Given the description of an element on the screen output the (x, y) to click on. 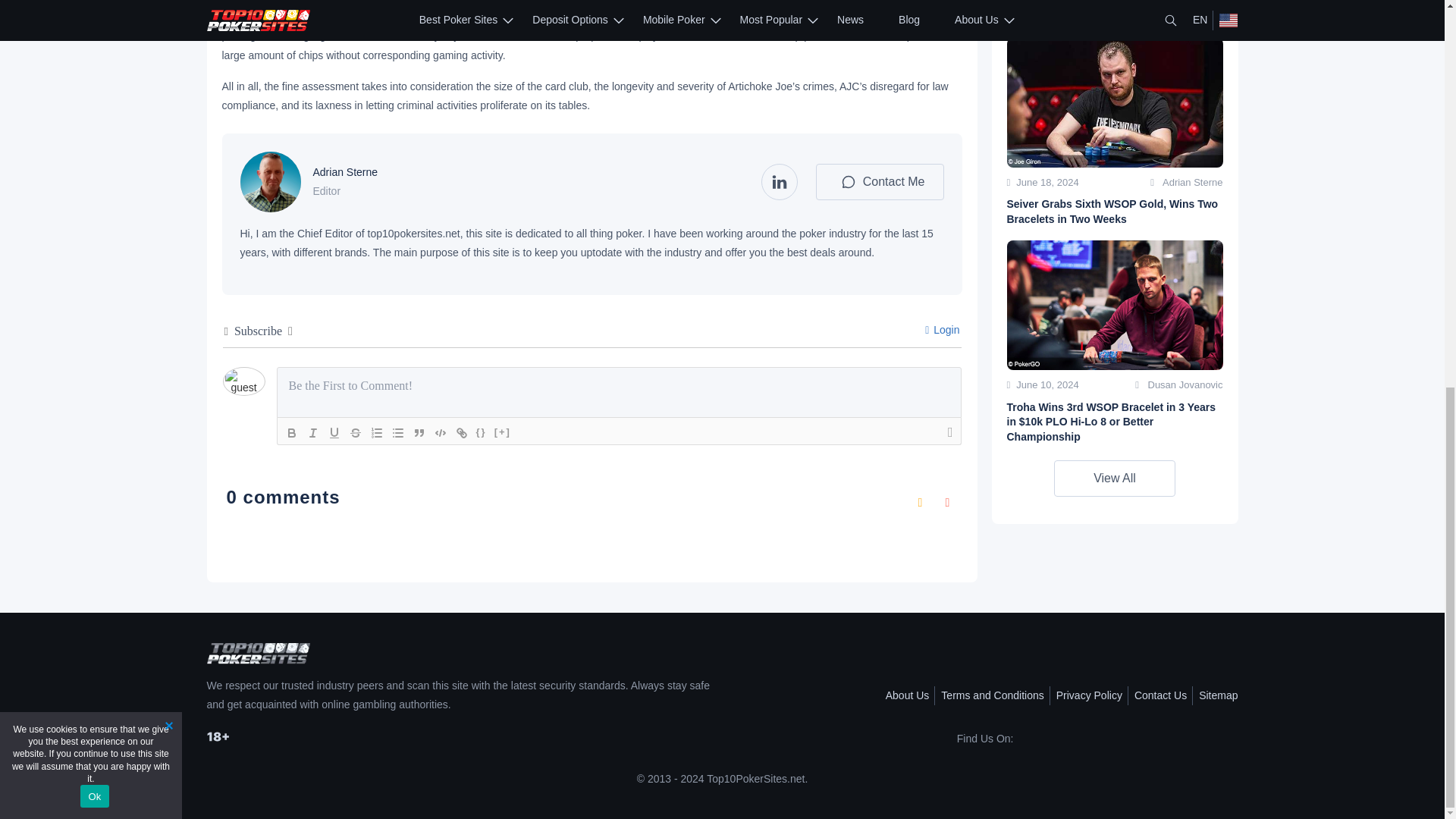
Code Block (439, 433)
Strike (354, 433)
Ordered List (376, 433)
Link (460, 433)
Blockquote (418, 433)
Unordered List (397, 433)
Source Code (480, 433)
Underline (333, 433)
Bold (291, 433)
Italic (312, 433)
Spoiler (502, 433)
